Given the description of an element on the screen output the (x, y) to click on. 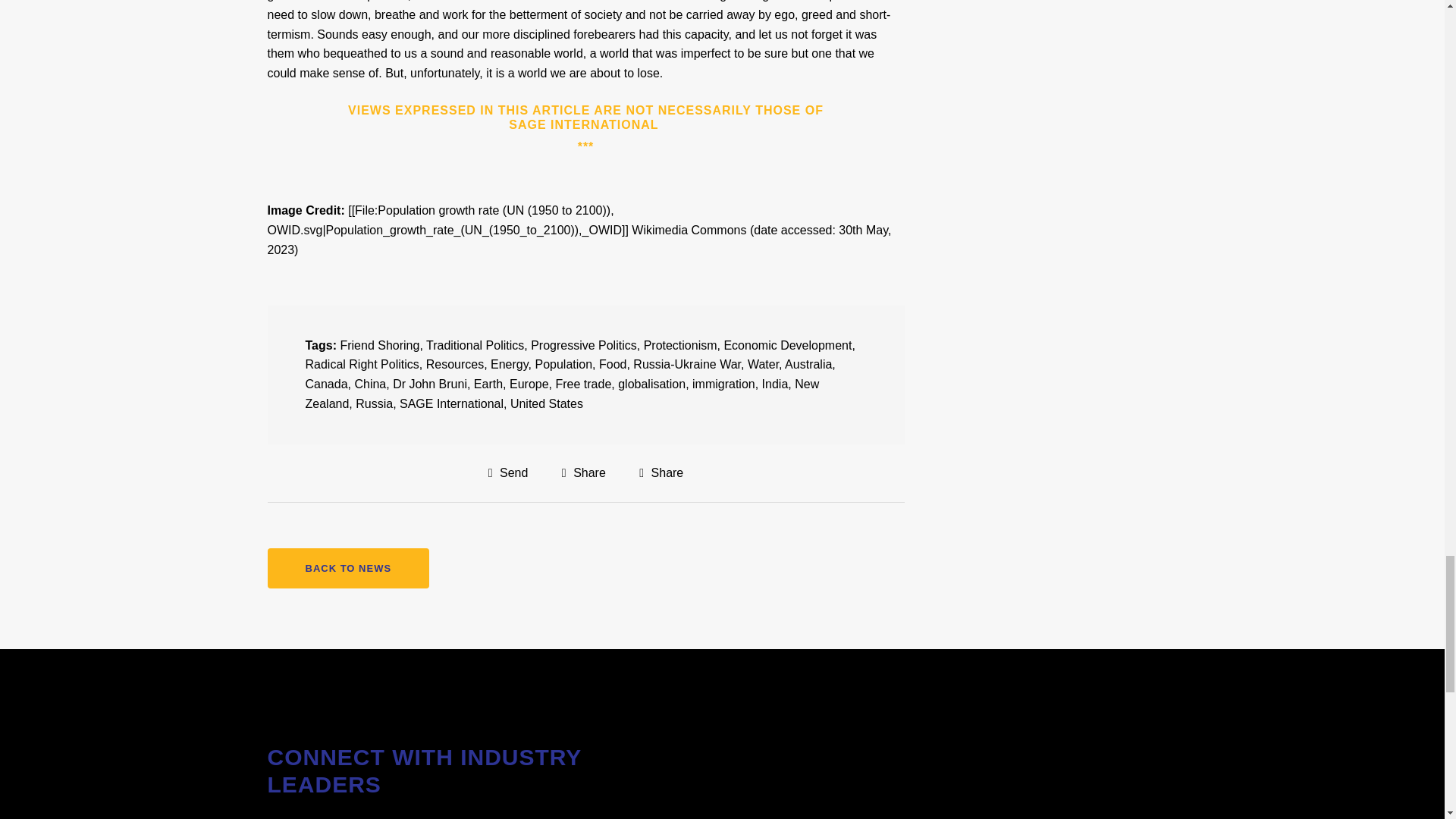
Energy (509, 364)
Friend Shoring (379, 345)
Russia-Ukraine War (687, 364)
Water (763, 364)
Traditional Politics (475, 345)
Protectionism (680, 345)
Australia (807, 364)
Canada (325, 383)
Progressive Politics (584, 345)
Population (563, 364)
